Given the description of an element on the screen output the (x, y) to click on. 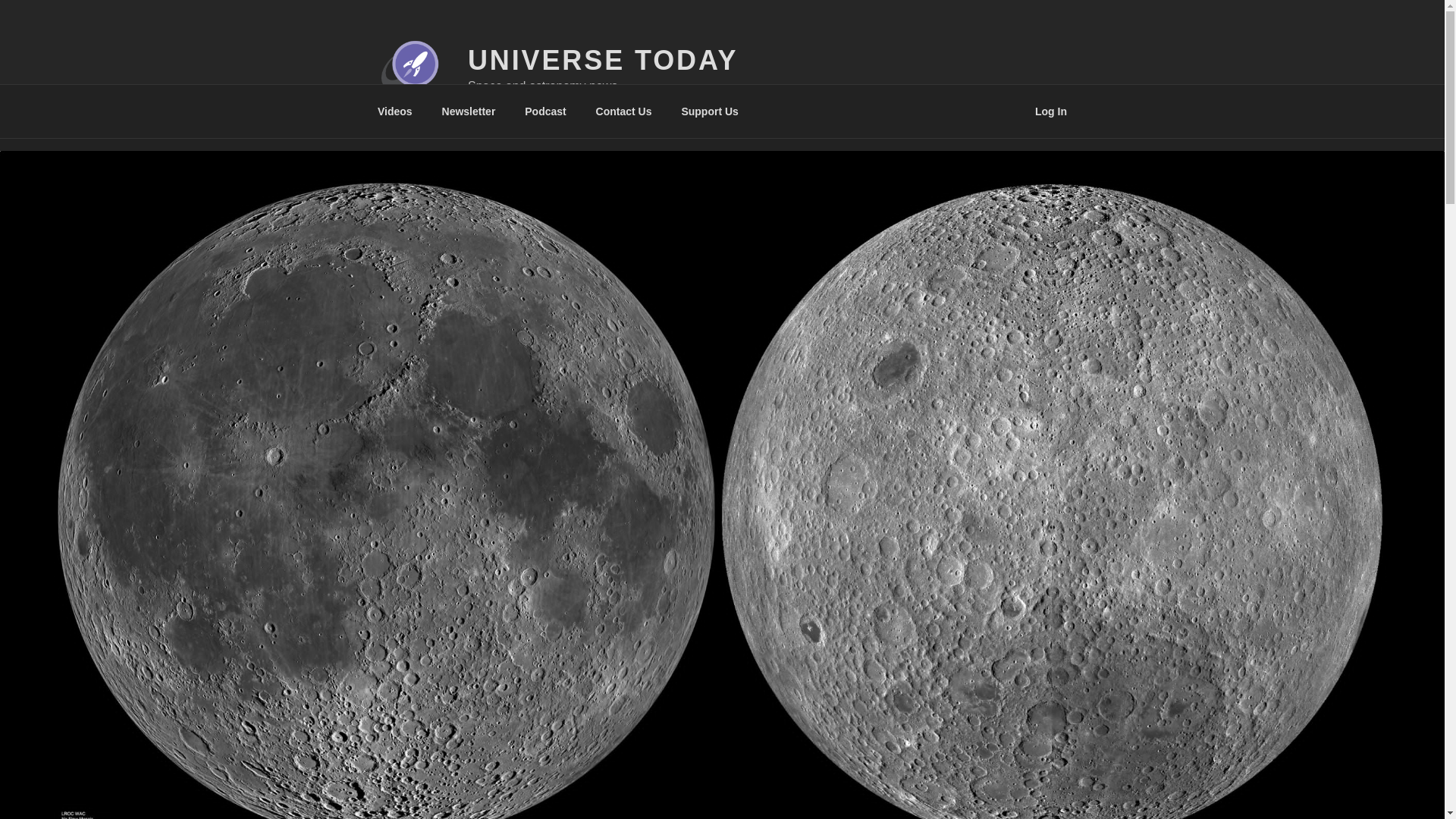
Videos (394, 110)
Newsletter (468, 110)
Contact Us (623, 110)
Podcast (545, 110)
Support Us (709, 110)
Log In (1051, 110)
UNIVERSE TODAY (602, 60)
